Given the description of an element on the screen output the (x, y) to click on. 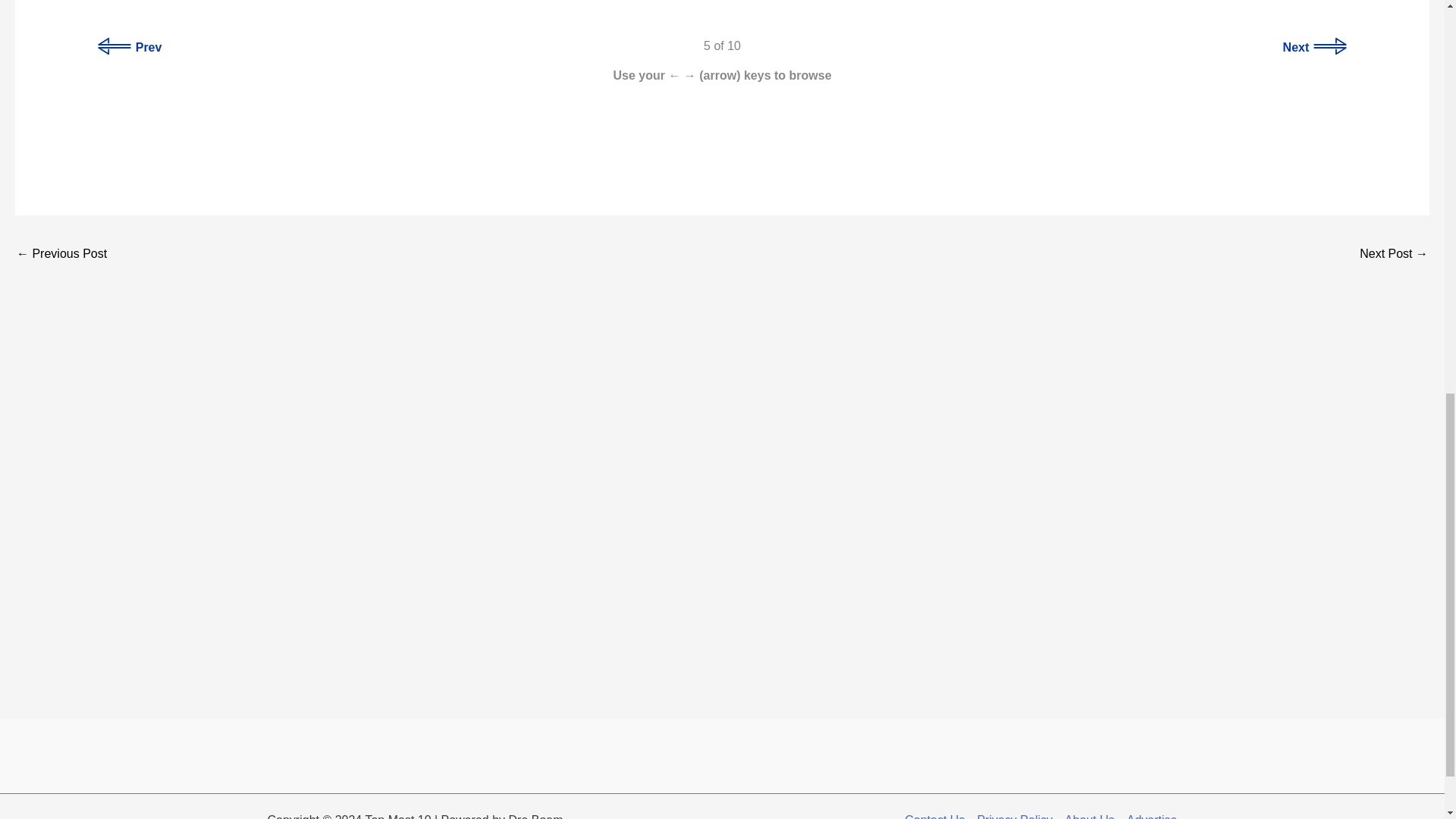
Prev (130, 46)
Next (1314, 46)
Contact Us (937, 814)
Here are the Top 10 Most Wanted Criminals in South Africa. (61, 254)
Privacy Policy (1014, 814)
About Us (1089, 814)
Advertise (1149, 814)
